Given the description of an element on the screen output the (x, y) to click on. 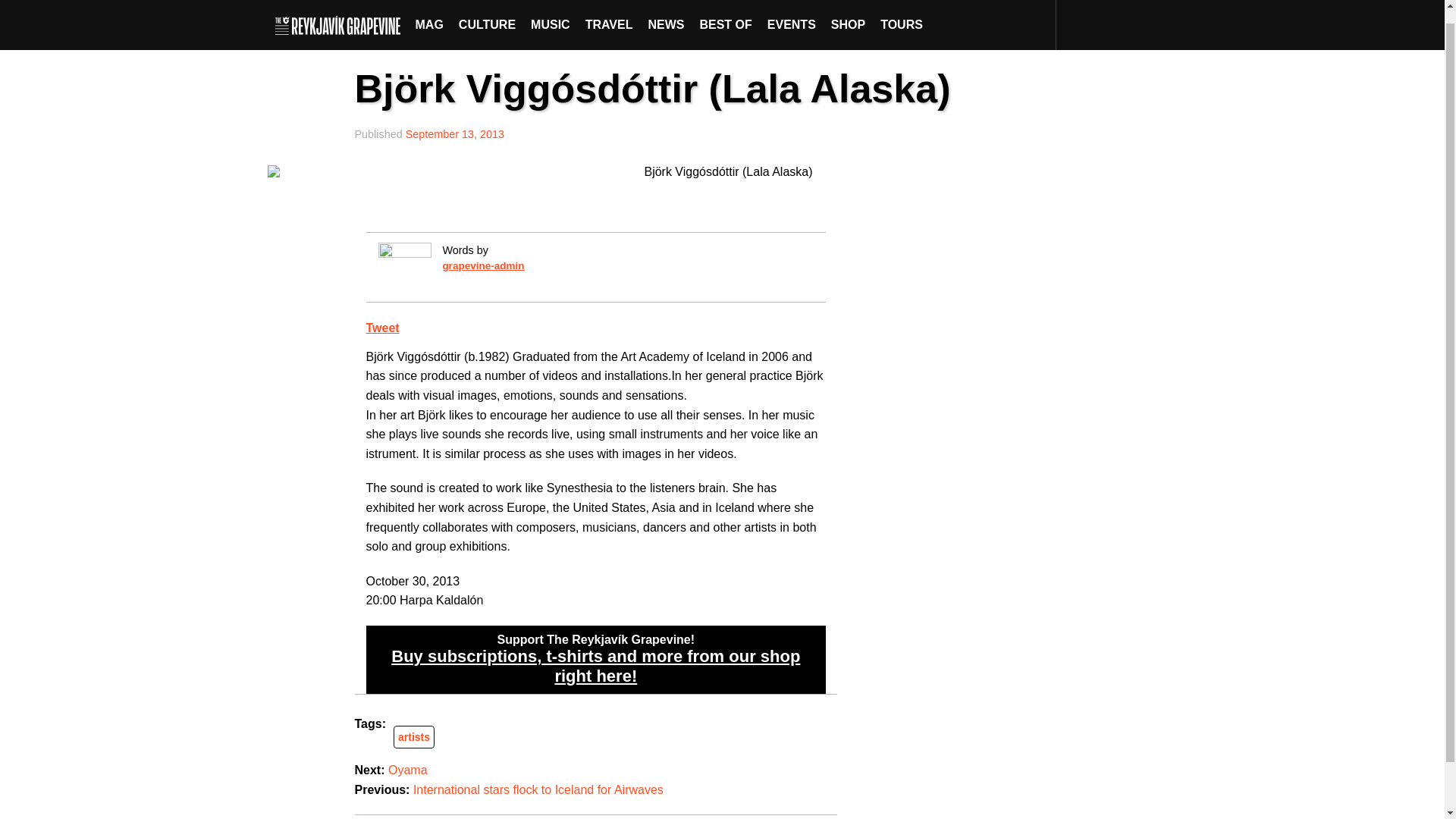
Oyama (408, 769)
TRAVEL (609, 18)
TOURS (901, 18)
CULTURE (486, 18)
artists (413, 736)
NEWS (665, 18)
Posts by grapevine-admin (483, 265)
MAG (429, 18)
MUSIC (550, 18)
Tweet (381, 327)
EVENTS (792, 18)
International stars flock to Iceland for Airwaves (538, 789)
grapevine-admin (483, 265)
BEST OF (724, 18)
SHOP (848, 18)
